Given the description of an element on the screen output the (x, y) to click on. 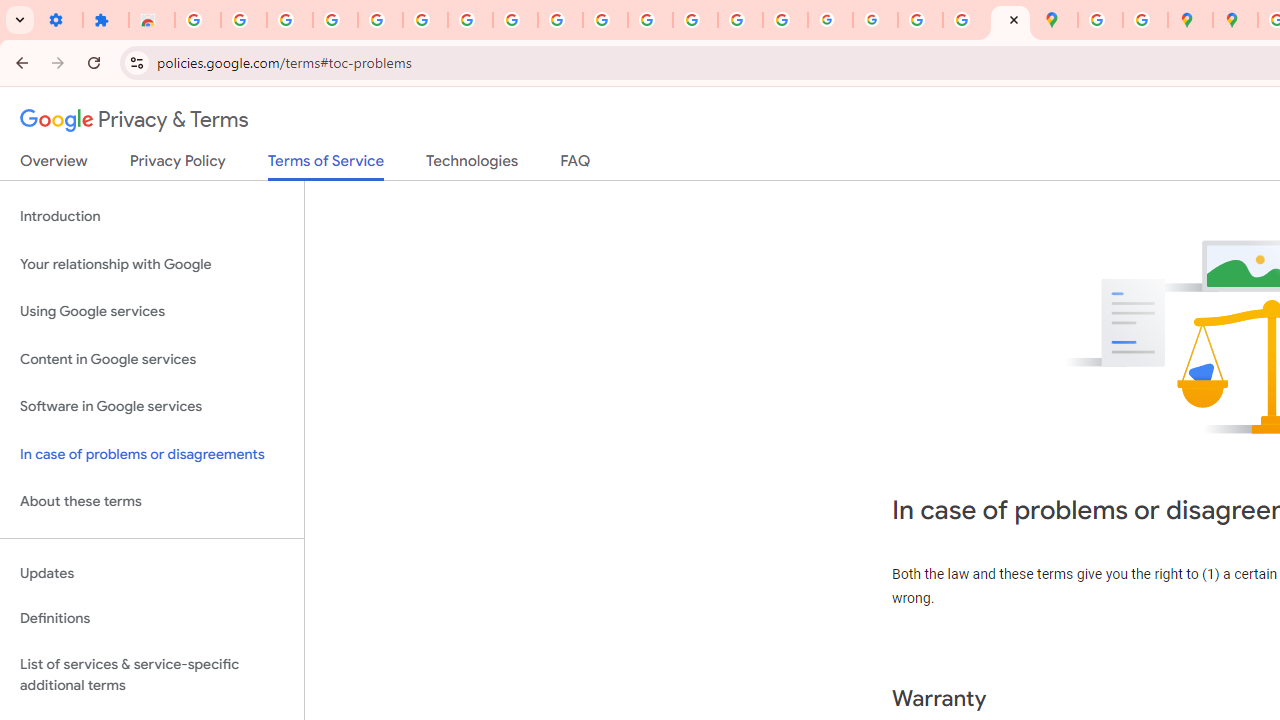
About these terms (152, 502)
Sign in - Google Accounts (198, 20)
Using Google services (152, 312)
